Given the description of an element on the screen output the (x, y) to click on. 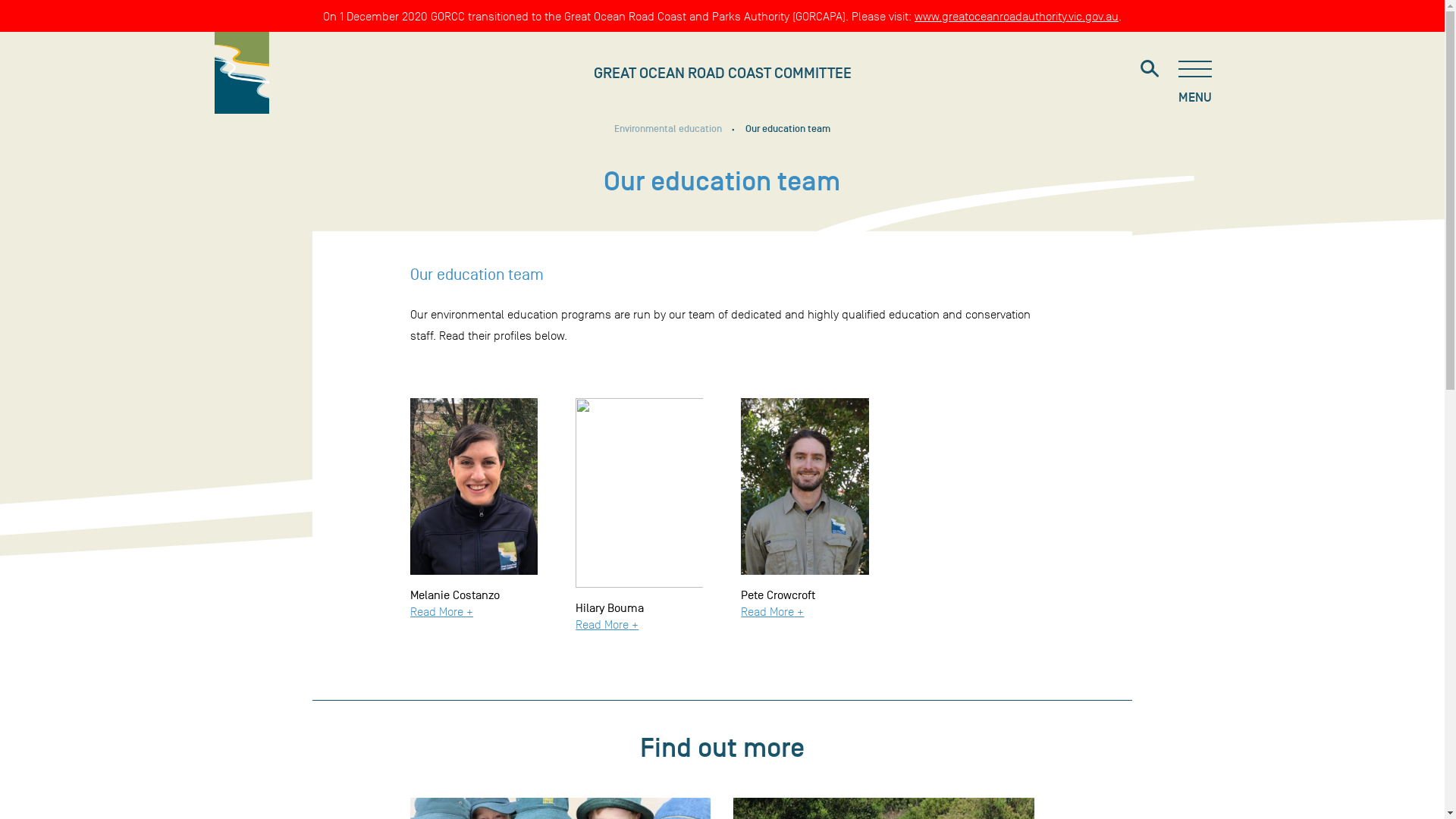
www.greatoceanroadauthority.vic.gov.au Element type: text (1016, 15)
Read More Element type: text (601, 624)
GREAT OCEAN ROAD COAST COMMITTEE Element type: text (721, 56)
MENU Element type: text (1194, 80)
Search Element type: text (1148, 68)
Read More Element type: text (436, 611)
Environmental education Element type: text (678, 128)
Read More Element type: text (766, 611)
